Given the description of an element on the screen output the (x, y) to click on. 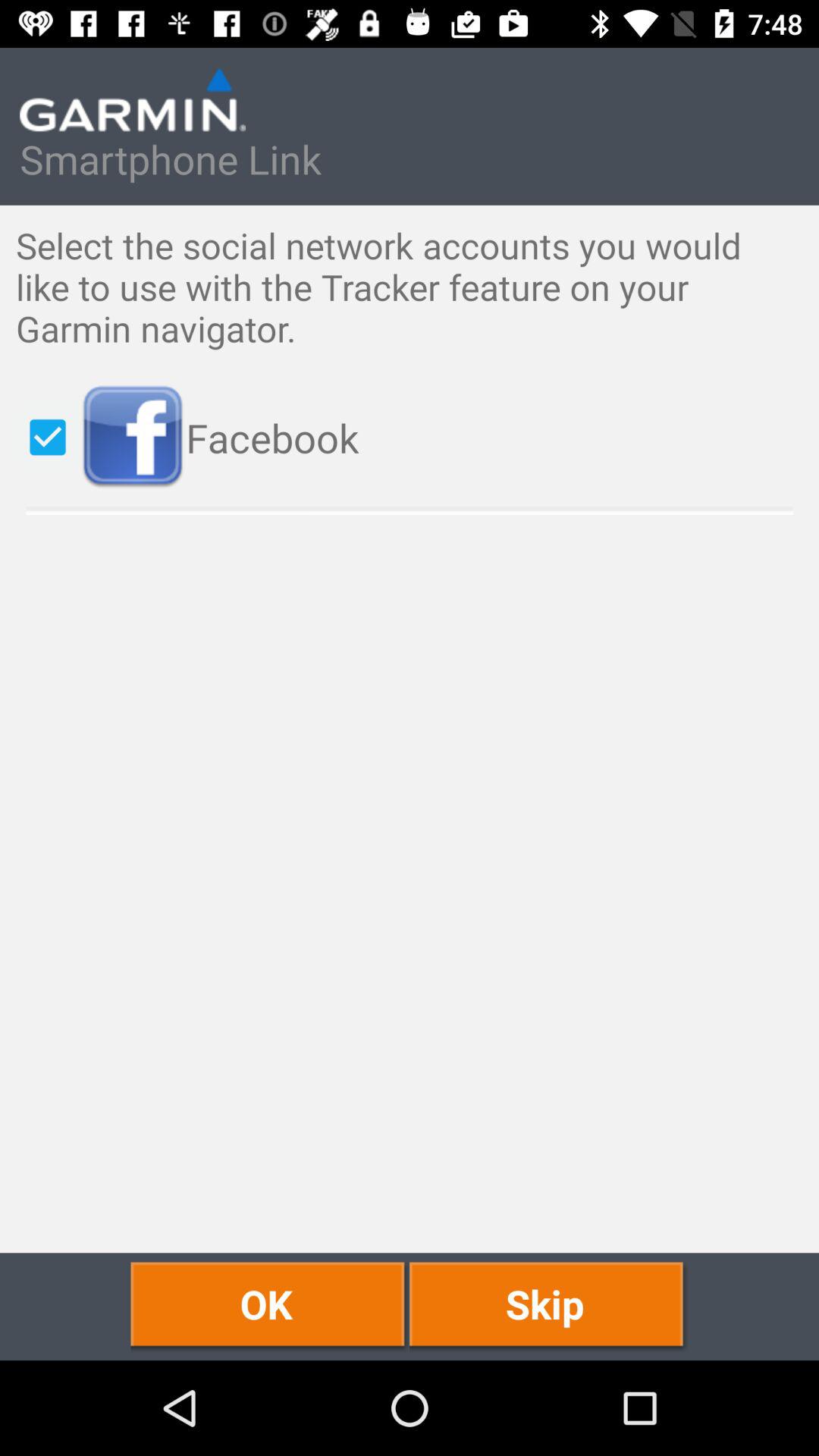
click the item at the bottom left corner (269, 1306)
